Given the description of an element on the screen output the (x, y) to click on. 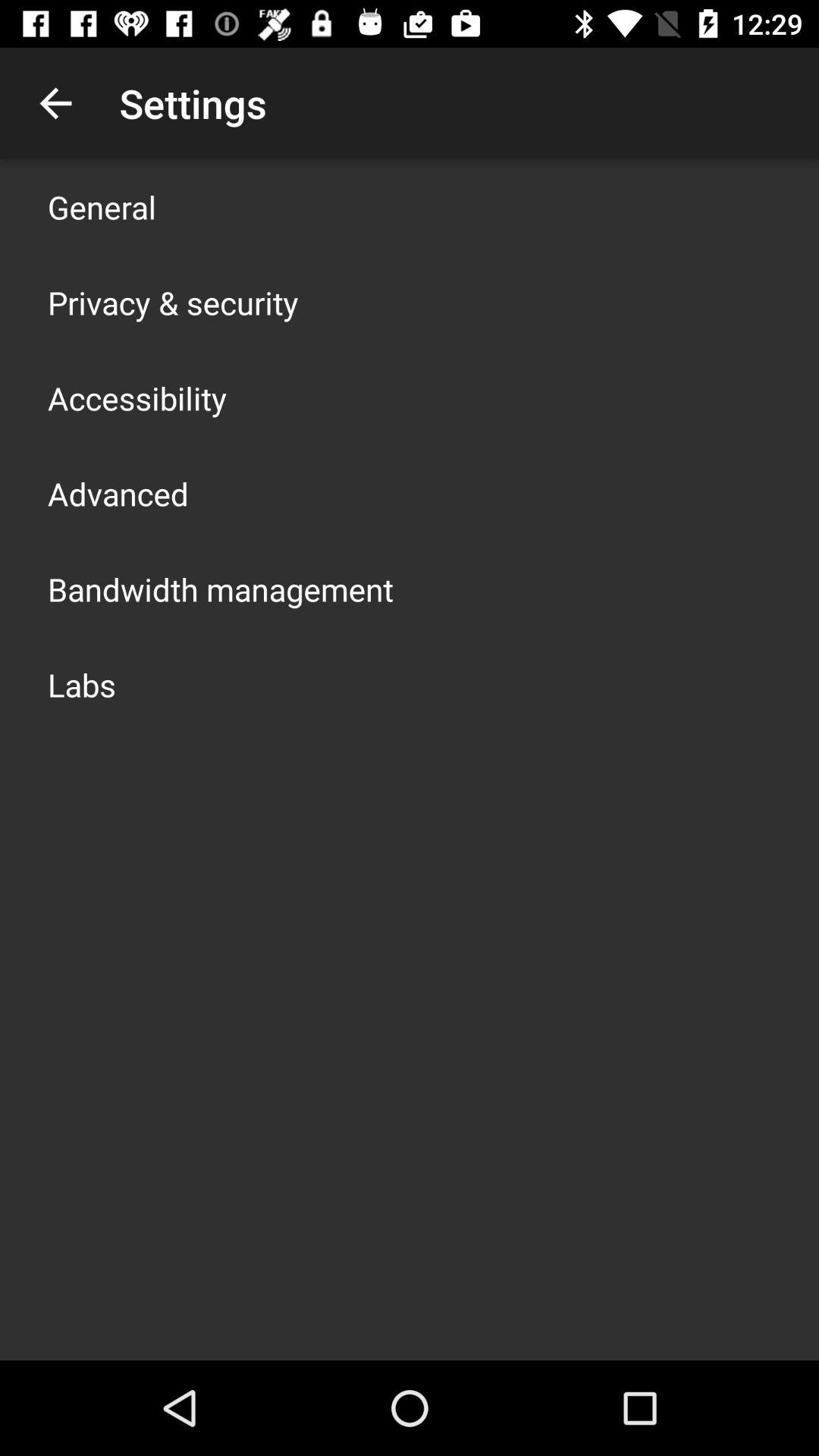
choose icon above labs item (220, 588)
